Given the description of an element on the screen output the (x, y) to click on. 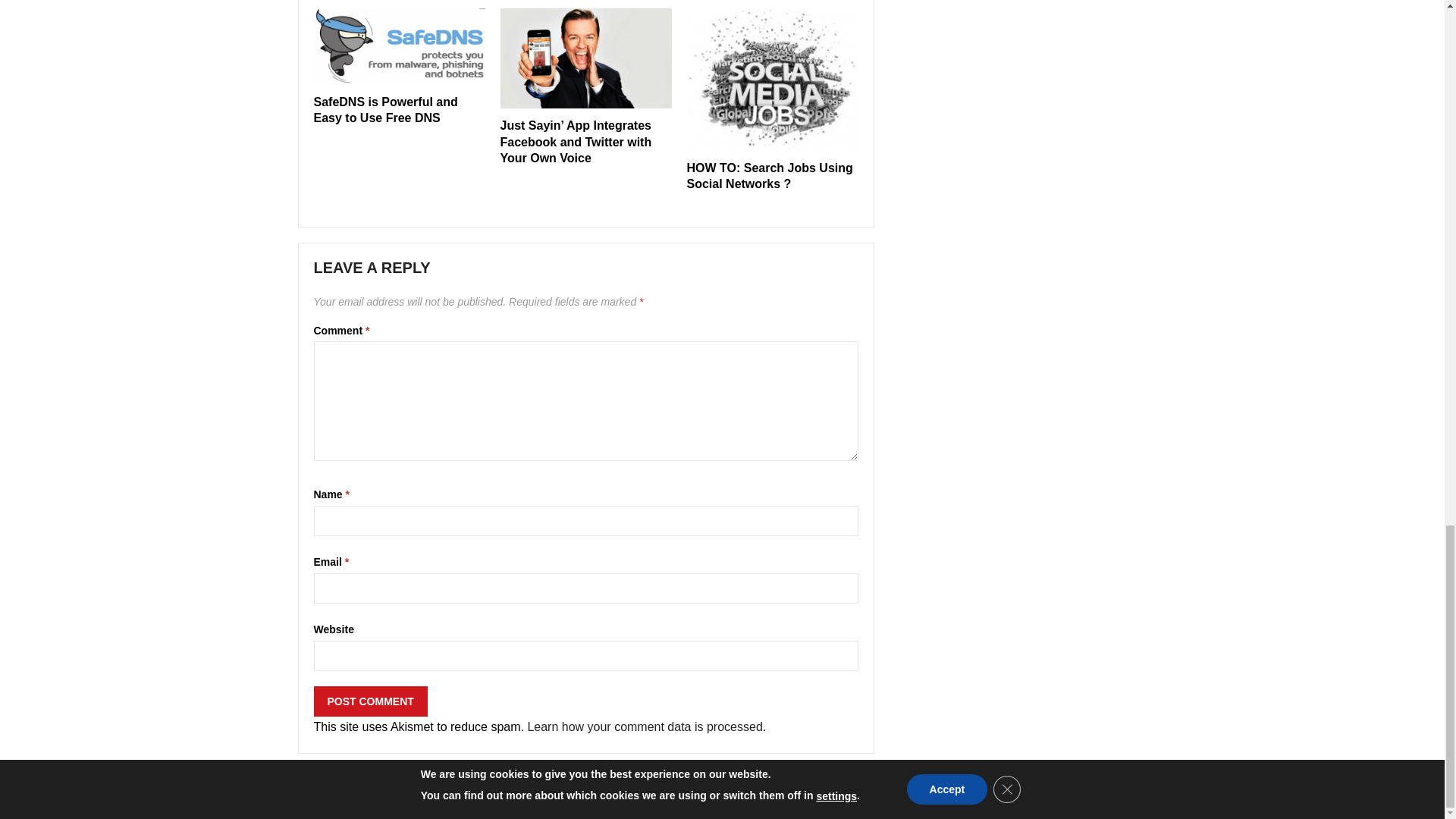
Post Comment (371, 701)
